Given the description of an element on the screen output the (x, y) to click on. 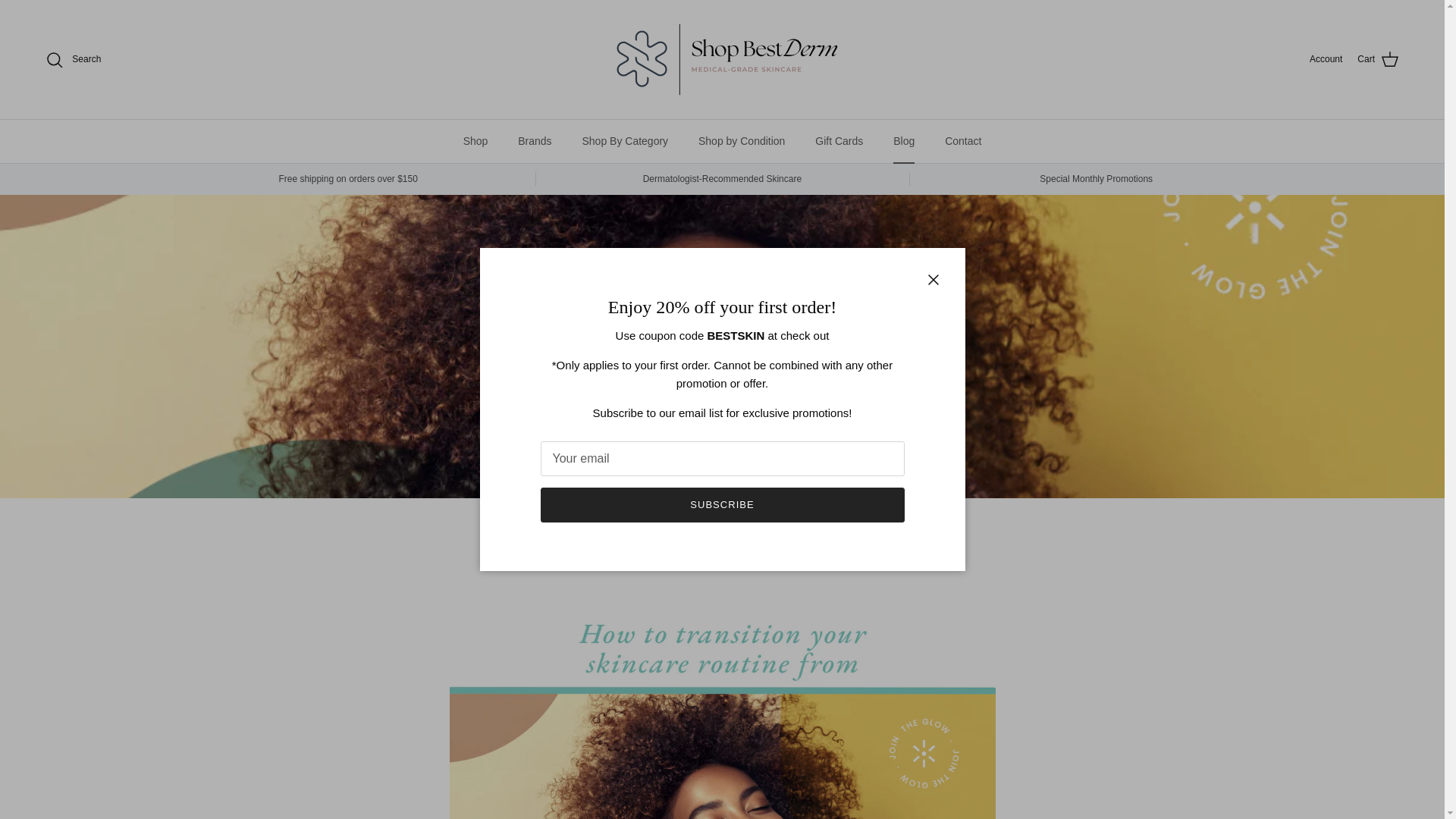
Brands (533, 140)
Shop (475, 140)
Shop By Category (624, 140)
Cart (1377, 59)
Shop by Condition (740, 140)
Search (72, 58)
Shop BestDerm (721, 59)
Account (1325, 59)
